Given the description of an element on the screen output the (x, y) to click on. 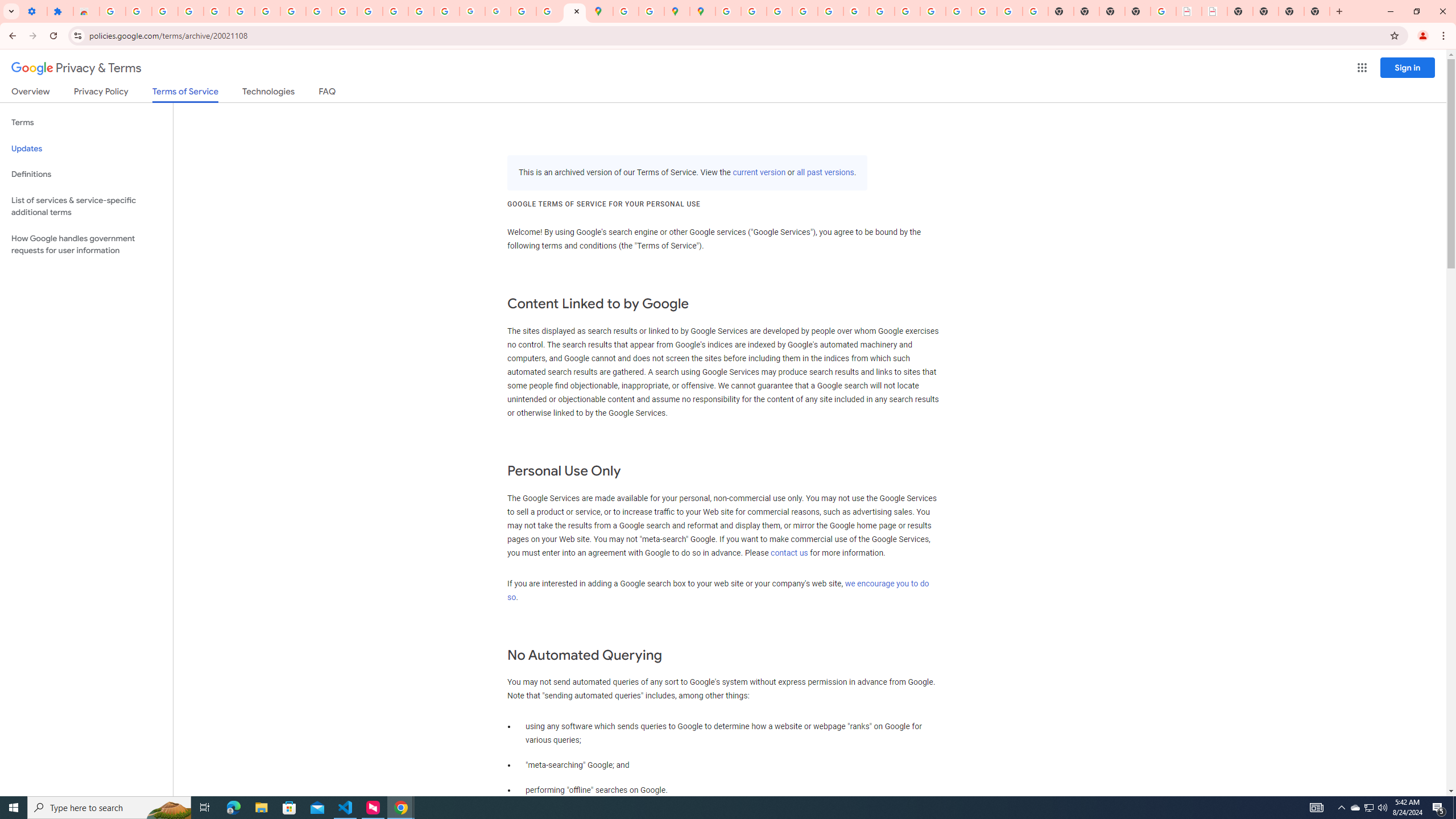
YouTube (318, 11)
BAE Systems Brasil | BAE Systems (1213, 11)
Google Maps (600, 11)
Technologies (268, 93)
Delete photos & videos - Computer - Google Photos Help (165, 11)
Sign in - Google Accounts (242, 11)
